Given the description of an element on the screen output the (x, y) to click on. 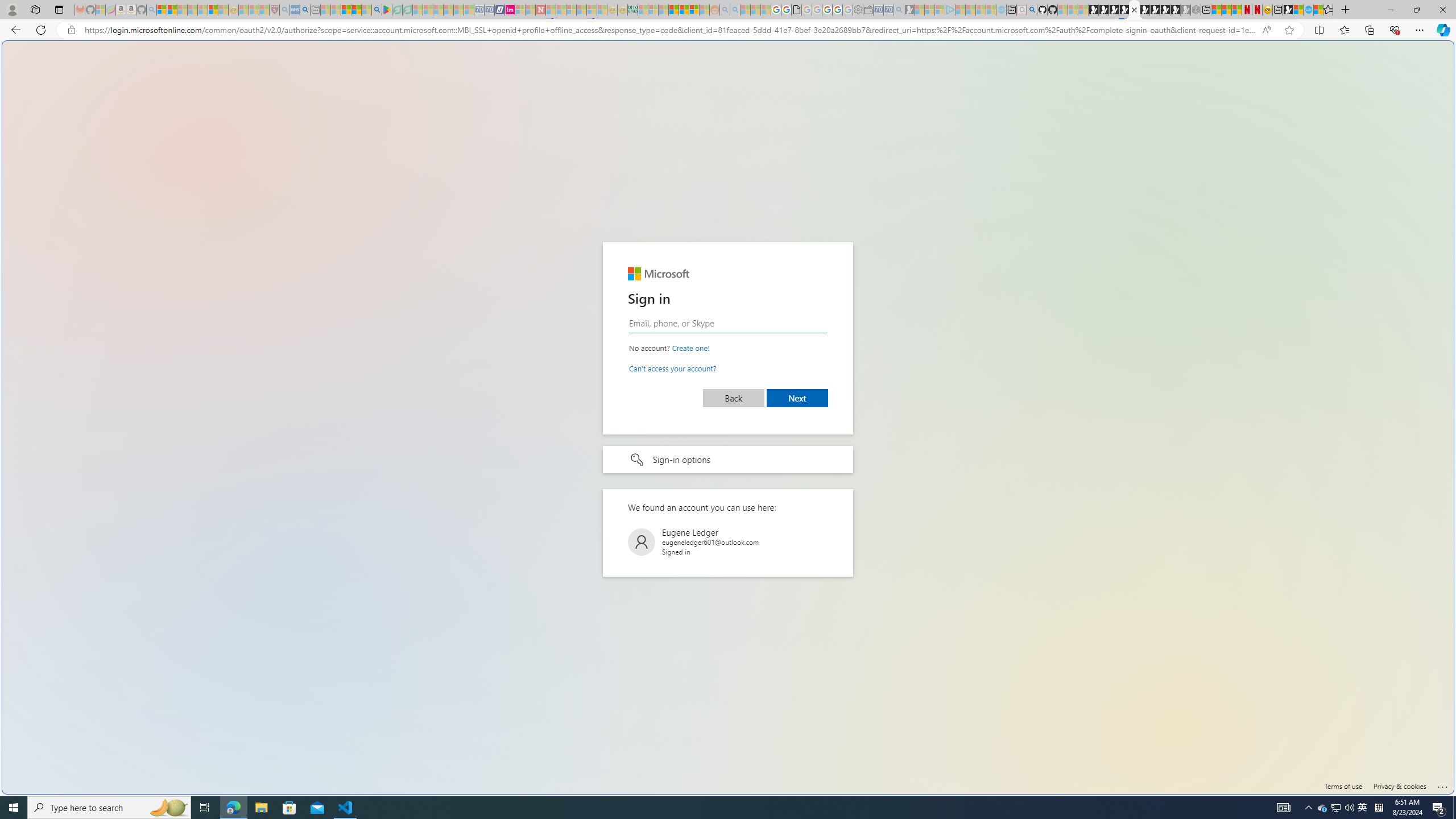
Privacy & cookies (1399, 786)
Kinda Frugal - MSN (684, 9)
Click here for troubleshooting information (1442, 784)
